Given the description of an element on the screen output the (x, y) to click on. 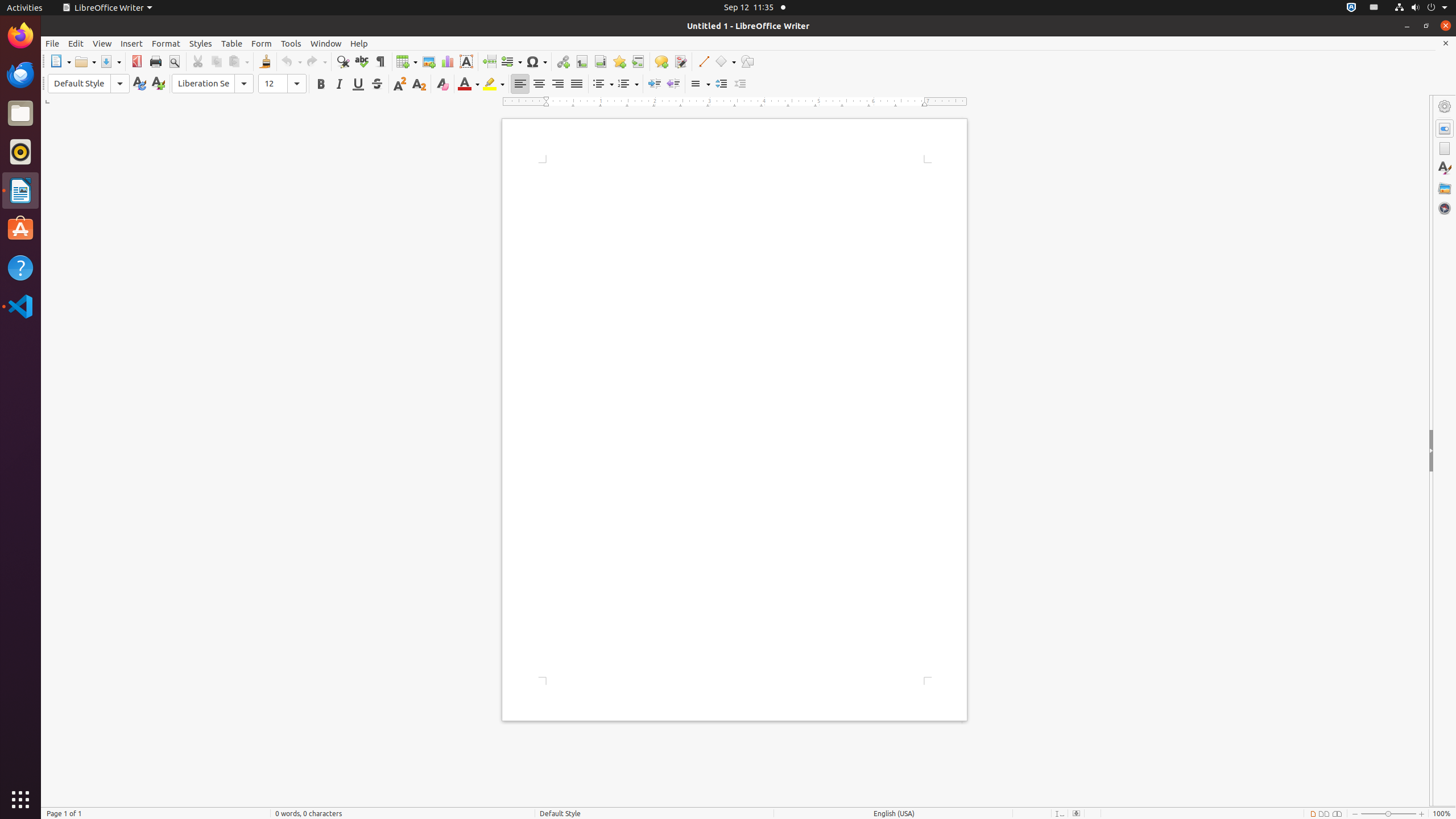
Table Element type: push-button (406, 61)
Right Element type: toggle-button (557, 83)
Trash Element type: label (75, 108)
New Element type: push-button (157, 83)
Redo Element type: push-button (315, 61)
